Given the description of an element on the screen output the (x, y) to click on. 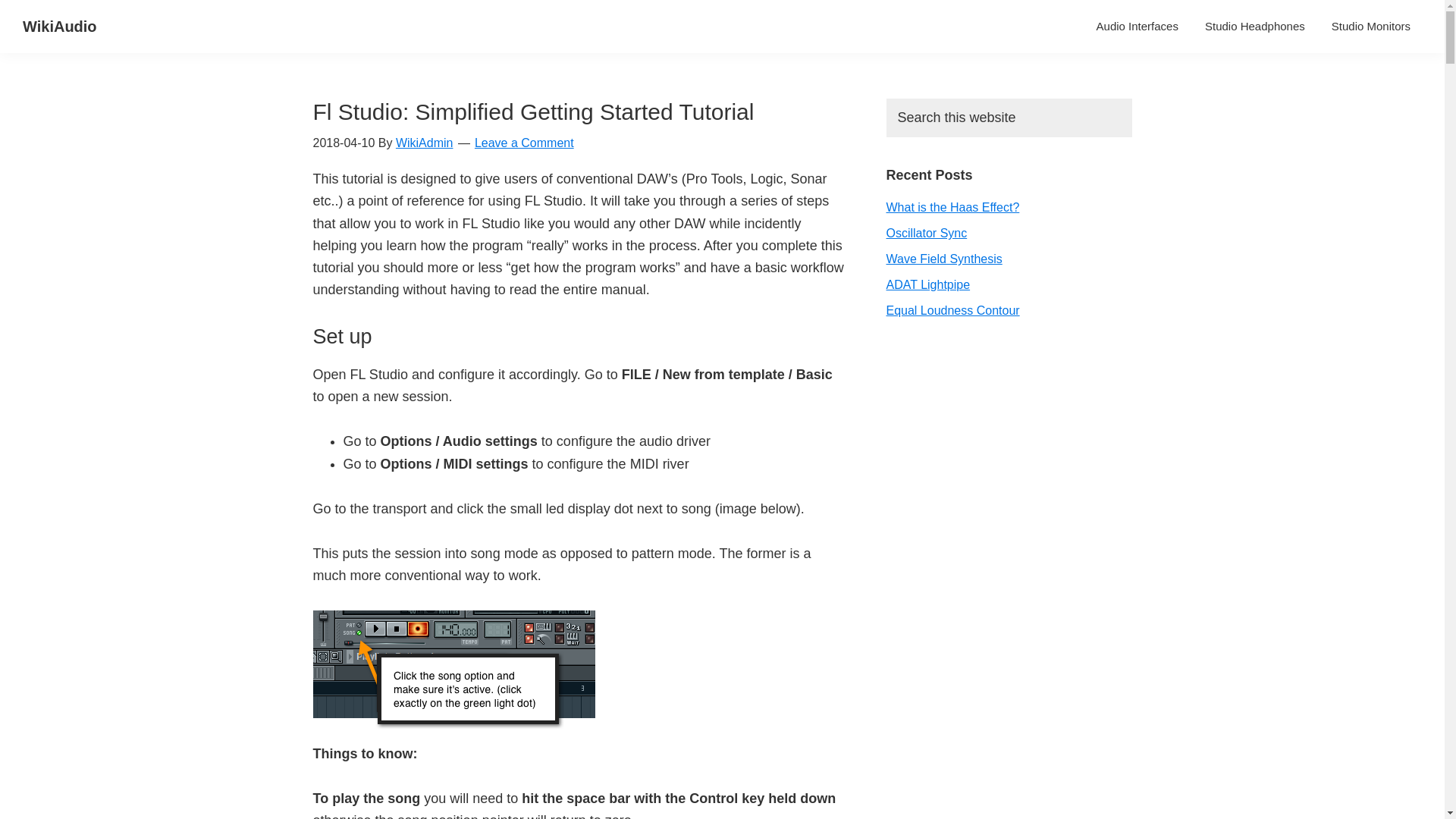
Studio Headphones (1254, 25)
Studio Monitors (1371, 25)
What is the Haas Effect? (952, 206)
ADAT Lightpipe (927, 284)
Audio Interfaces (1136, 25)
Wave Field Synthesis (943, 258)
WikiAudio (60, 26)
Leave a Comment (523, 142)
Equal Loudness Contour (952, 309)
WikiAdmin (424, 142)
Oscillator Sync (925, 232)
